Given the description of an element on the screen output the (x, y) to click on. 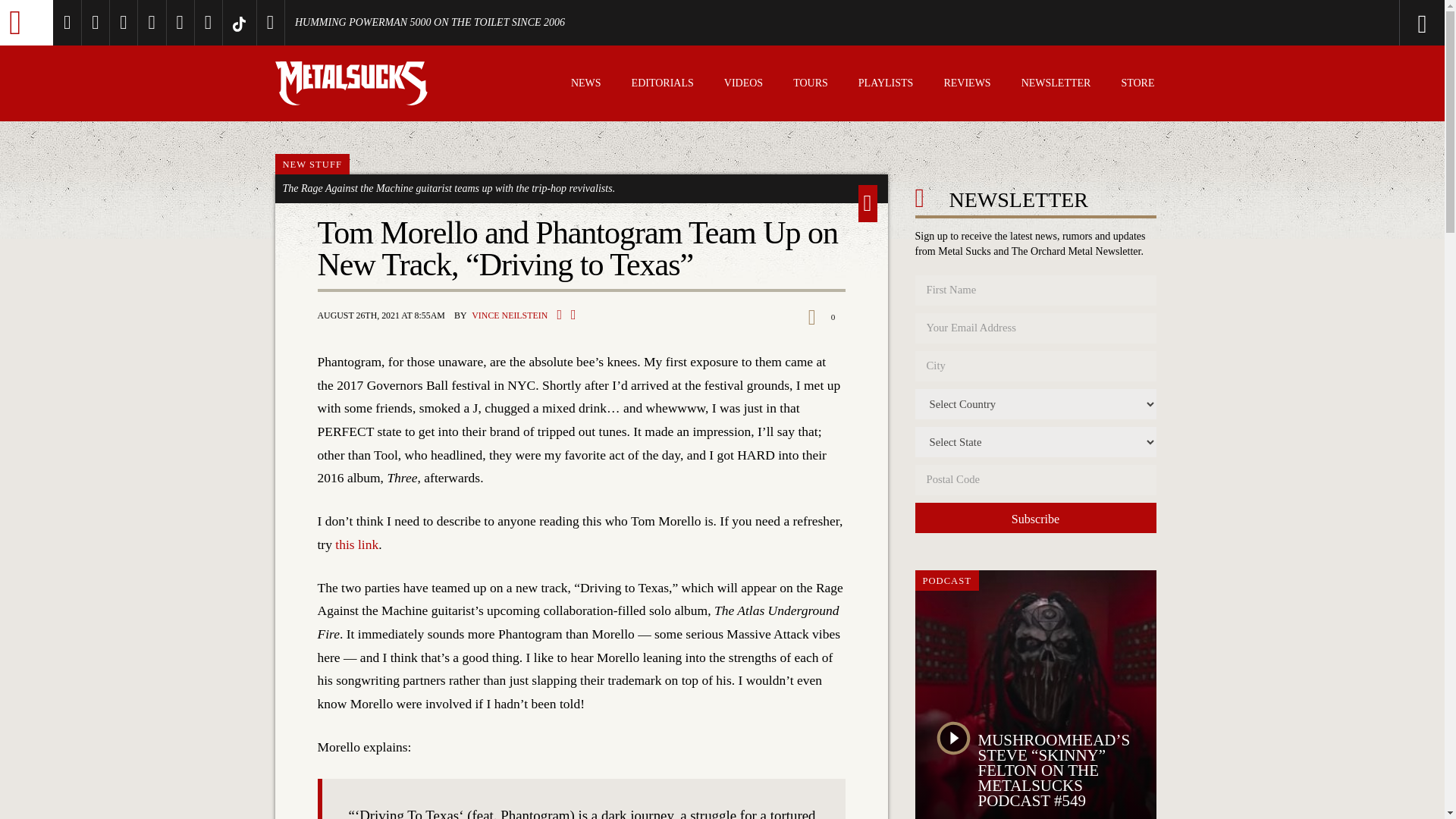
PLAYLISTS (886, 84)
VIDEOS (742, 84)
EDITORIALS (662, 84)
STORE (1137, 84)
Metal Sucks (26, 22)
Search (1361, 22)
NEWSLETTER (1056, 84)
REVIEWS (966, 84)
Subscribe (1035, 517)
TOURS (810, 84)
NEWS (585, 84)
